Given the description of an element on the screen output the (x, y) to click on. 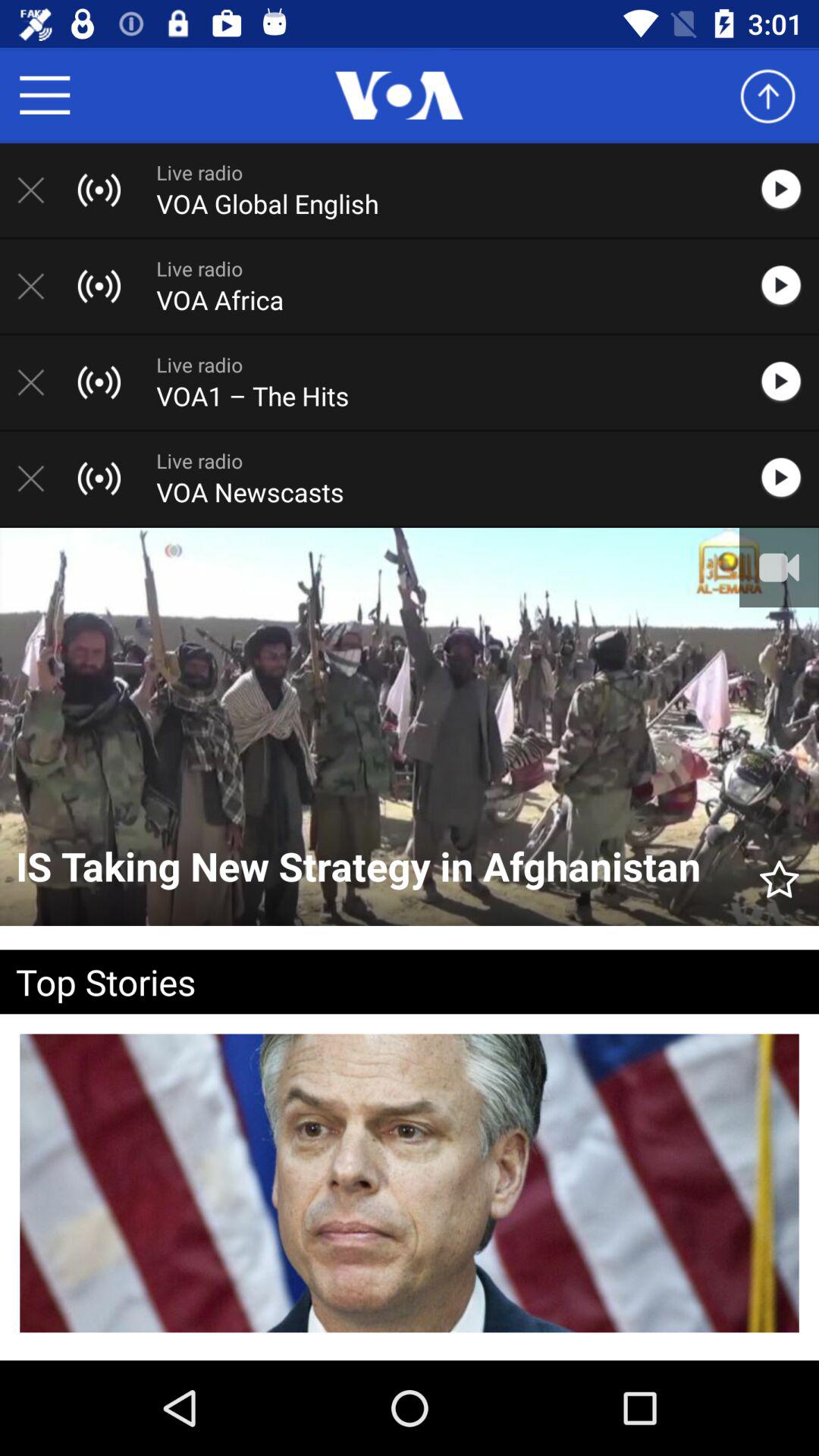
delete voa1 as a station (38, 382)
